Given the description of an element on the screen output the (x, y) to click on. 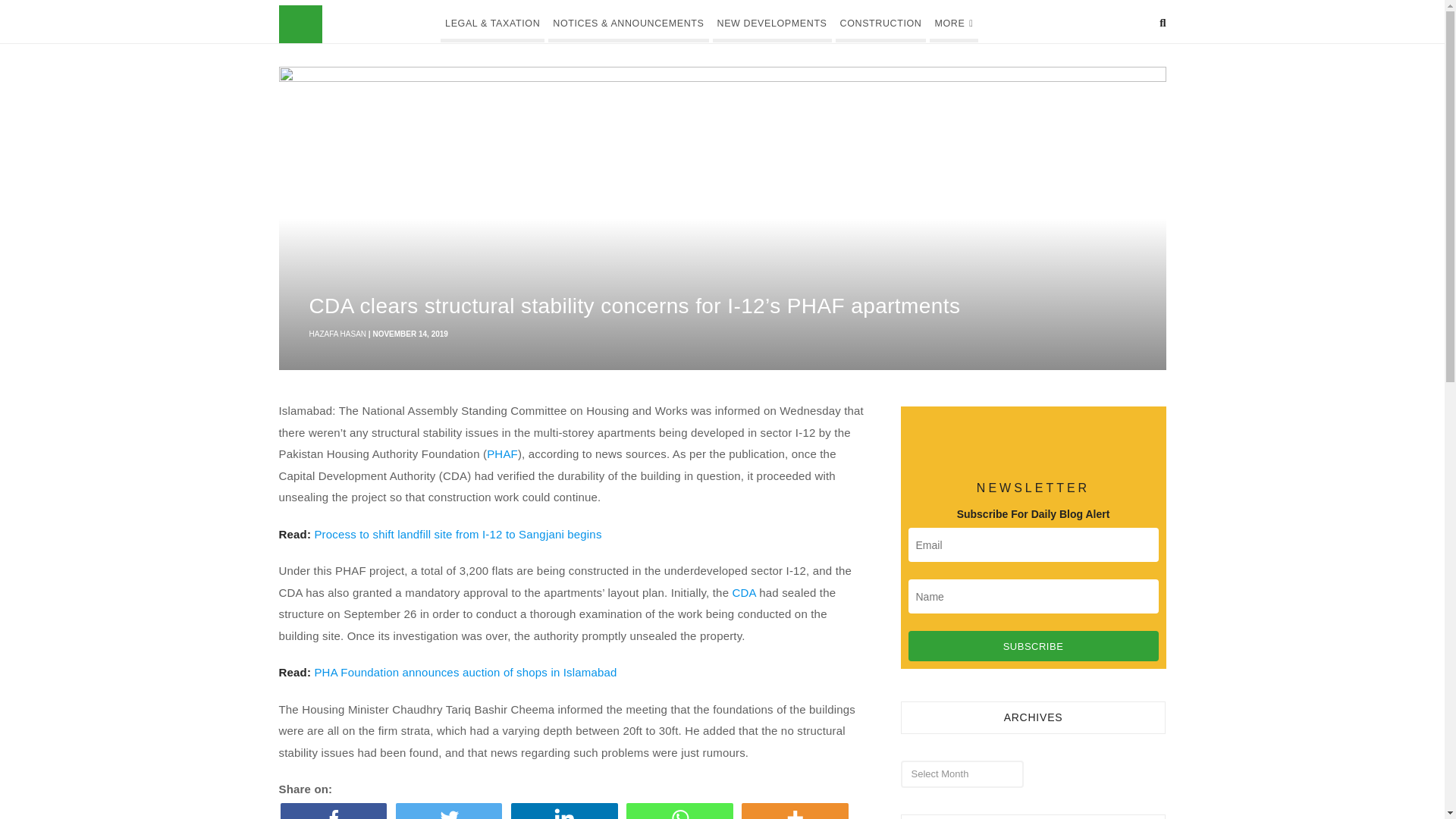
MORE (953, 21)
More (797, 810)
Twitter (452, 810)
NEWS (378, 24)
Whatsapp (682, 810)
PHAF (502, 453)
PHA Foundation announces auction of shops in Islamabad (464, 671)
Linkedin (567, 810)
Subscribe (1033, 645)
Facebook (337, 810)
